Given the description of an element on the screen output the (x, y) to click on. 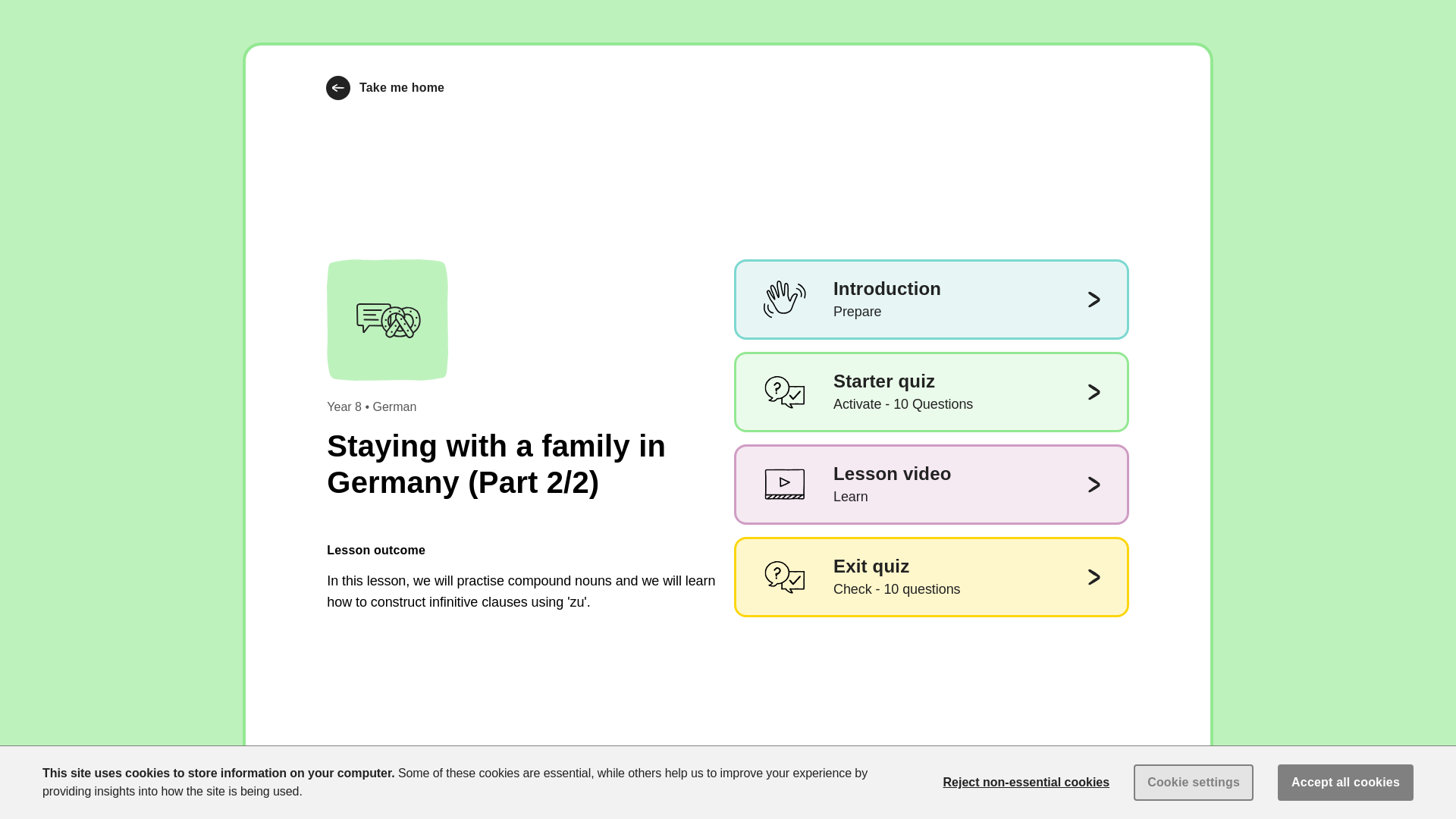
Cookie settings (931, 299)
Accept all cookies (1193, 782)
Take me home (1345, 782)
Let's get ready (385, 87)
Reject non-essential cookies (1126, 786)
